Given the description of an element on the screen output the (x, y) to click on. 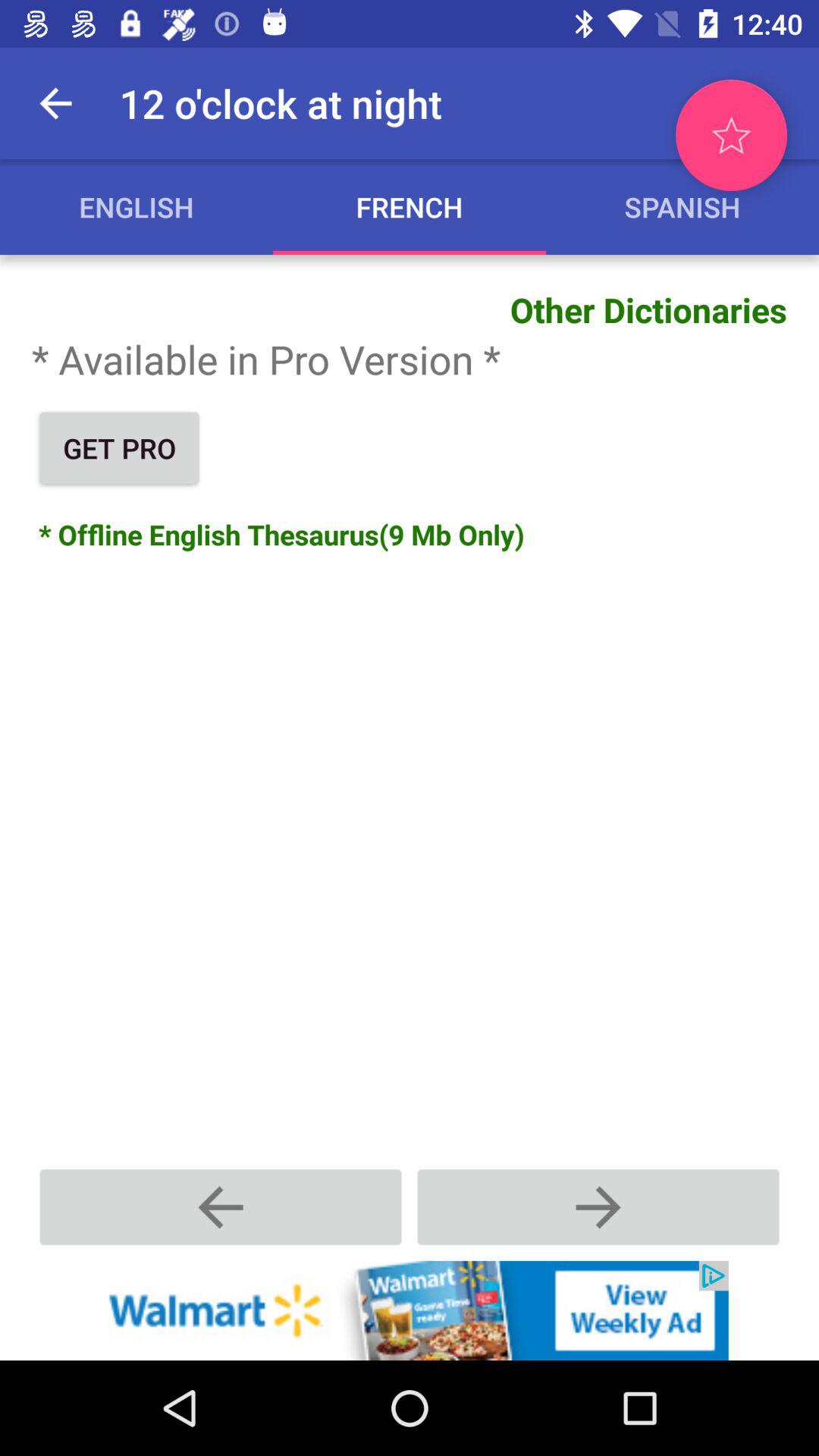
previous button (220, 1206)
